Given the description of an element on the screen output the (x, y) to click on. 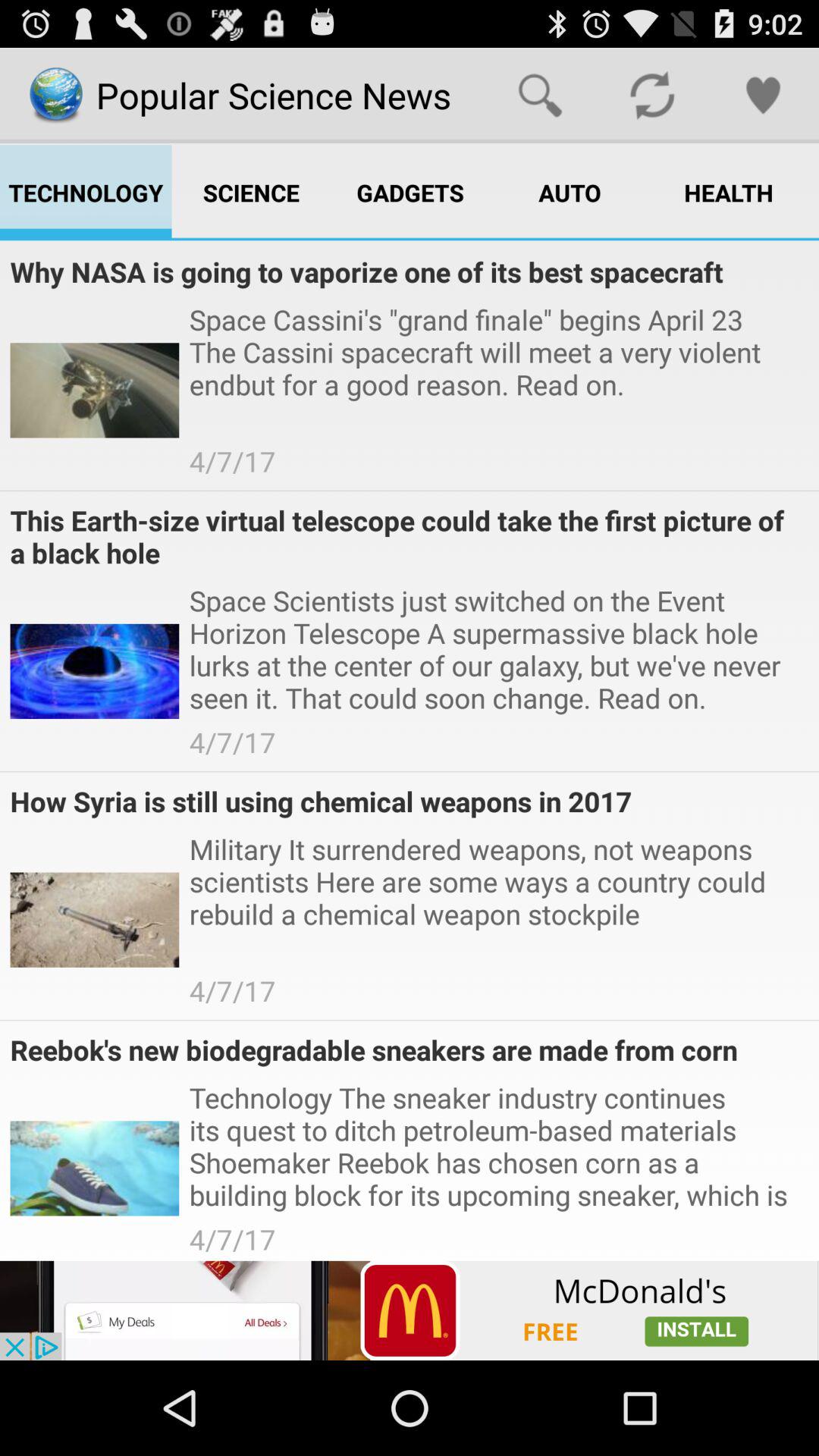
click to view advertisement (409, 1310)
